Given the description of an element on the screen output the (x, y) to click on. 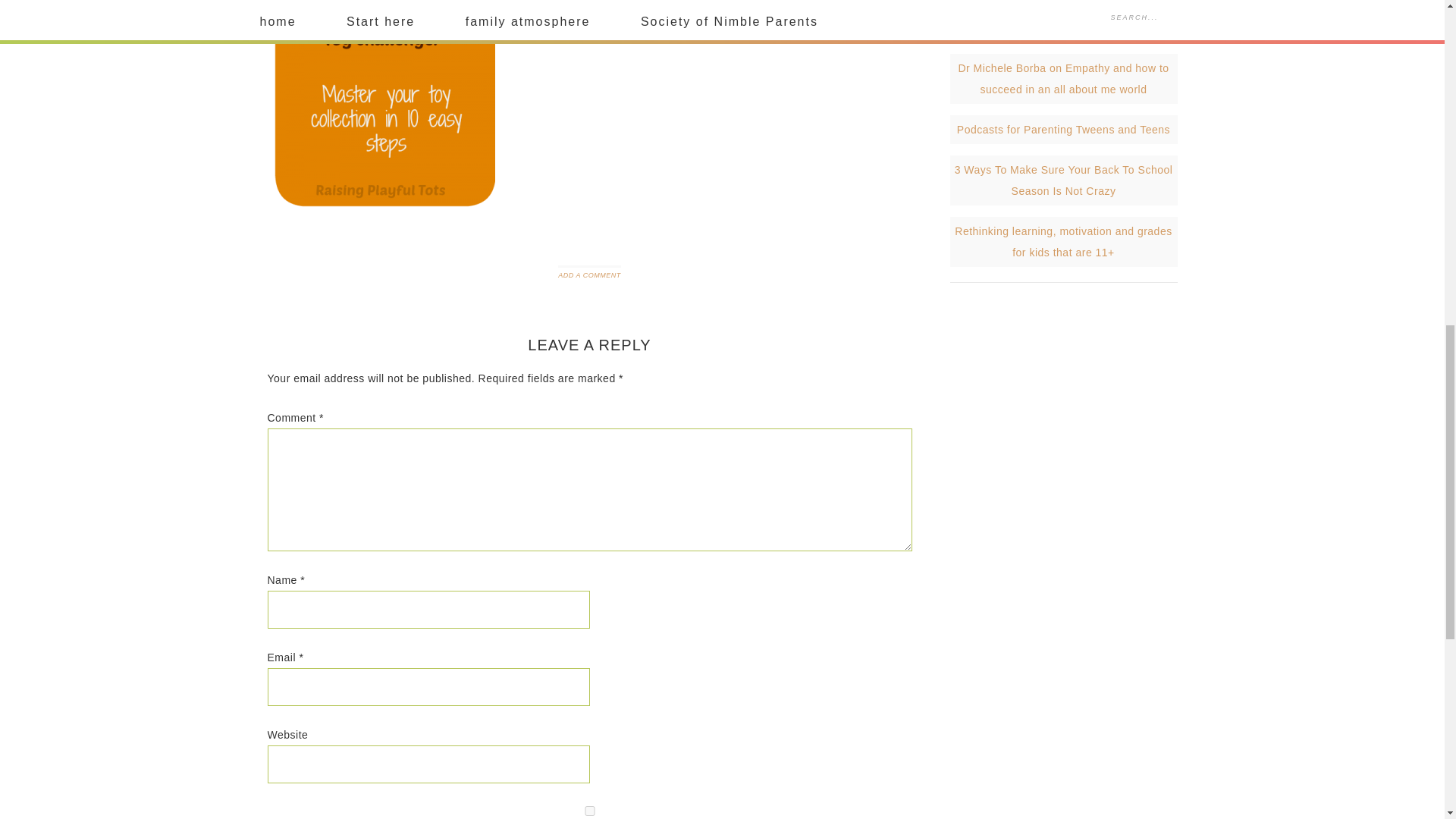
Podcasts for Parenting Tweens and Teens (1063, 129)
yes (588, 810)
3 Ways To Make Sure Your Back To School Season Is Not Crazy (1064, 180)
ADD A COMMENT (588, 275)
